Given the description of an element on the screen output the (x, y) to click on. 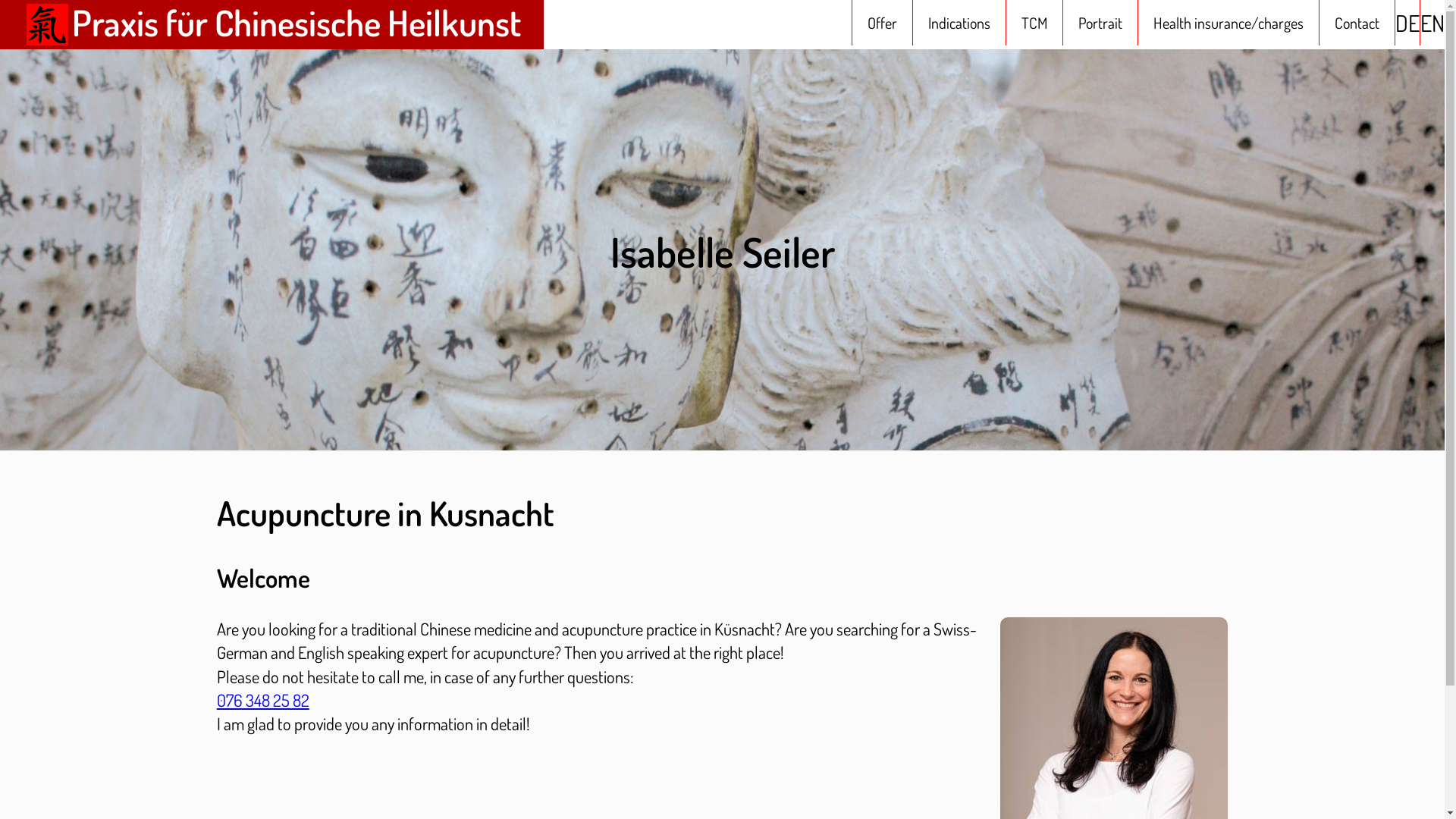
DE Element type: text (1407, 22)
TCM Element type: text (1034, 22)
076 348 25 82 Element type: text (262, 699)
Zur Startseite Element type: hover (47, 24)
Contact Element type: text (1356, 22)
Portrait Element type: text (1100, 22)
EN Element type: text (1432, 22)
Indications Element type: text (959, 22)
Health insurance/charges Element type: text (1228, 22)
Offer Element type: text (882, 22)
